Given the description of an element on the screen output the (x, y) to click on. 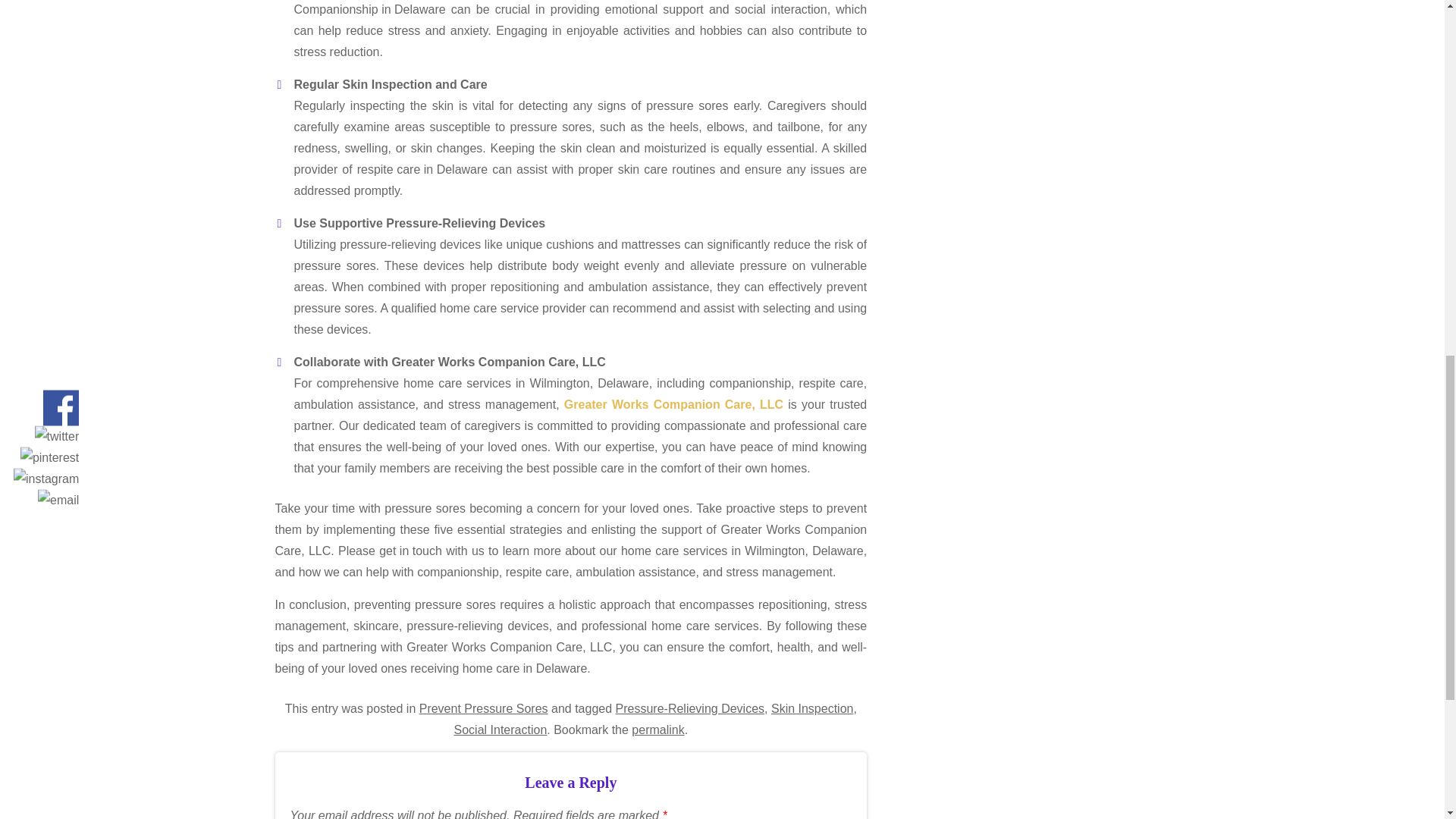
Prevent Pressure Sores (483, 708)
Permalink to Ways to Prevent Pressure Sores (657, 730)
permalink (657, 730)
Skin Inspection (812, 708)
swelling (366, 148)
Social Interaction (500, 730)
Pressure-Relieving Devices (690, 708)
Companionship in Delaware (369, 10)
respite care in Delaware (421, 169)
stress management (779, 572)
